Given the description of an element on the screen output the (x, y) to click on. 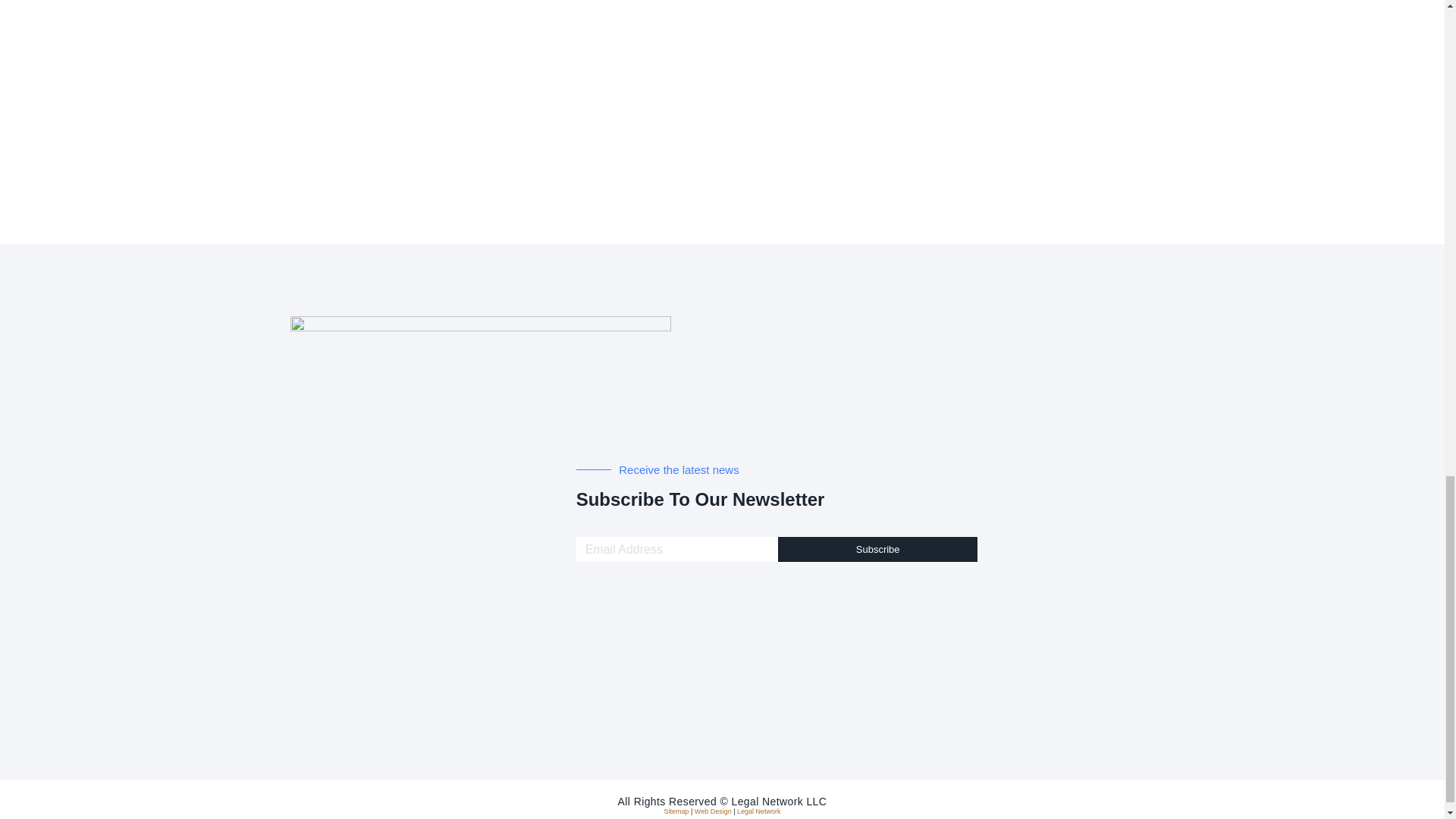
Legal Network LLC (778, 801)
Legal Network (758, 810)
Subscribe (877, 549)
Web Design (713, 810)
Sitemap (675, 810)
